Given the description of an element on the screen output the (x, y) to click on. 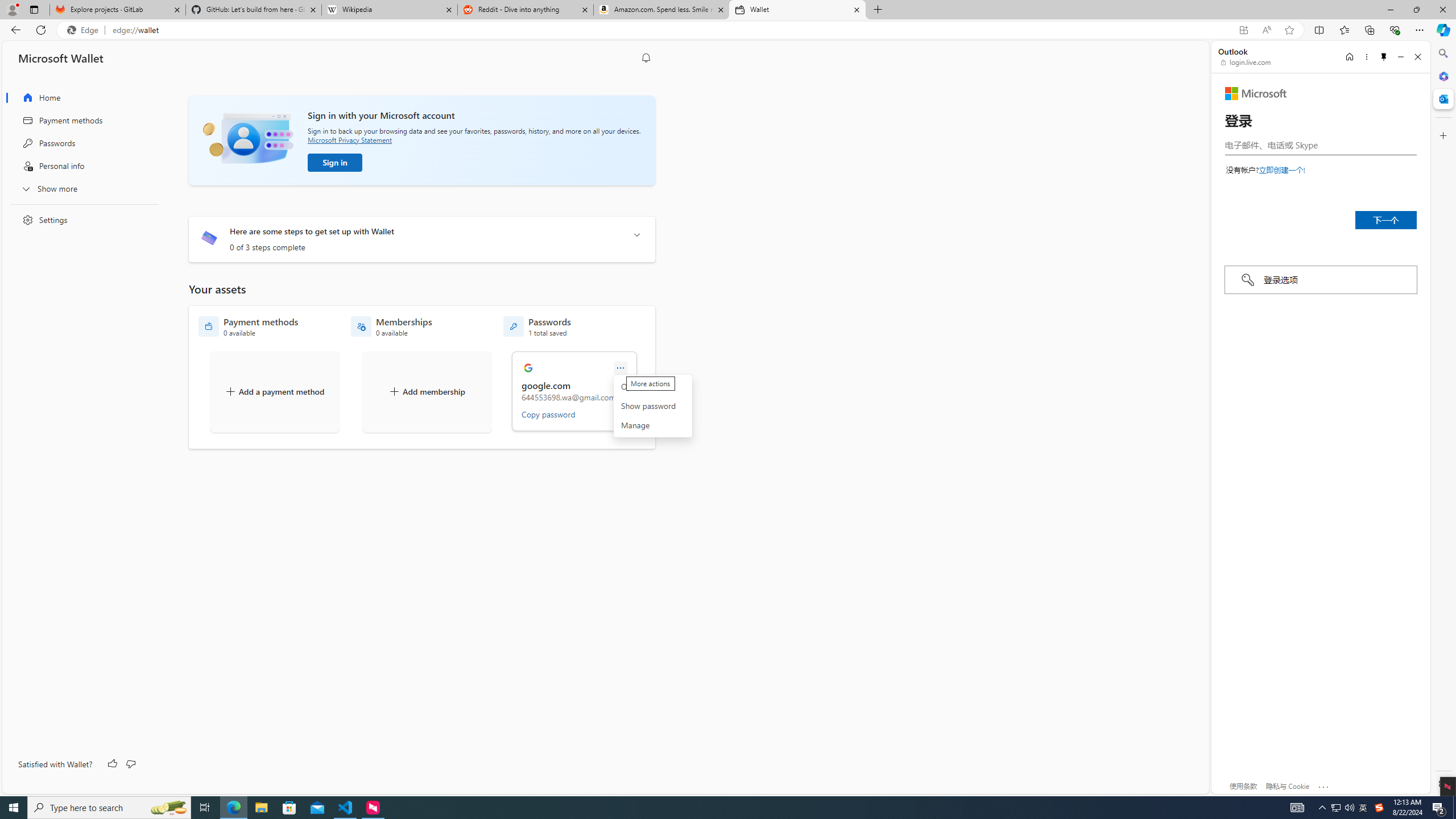
Microsoft Privacy Statement (349, 139)
Show password (651, 406)
